Given the description of an element on the screen output the (x, y) to click on. 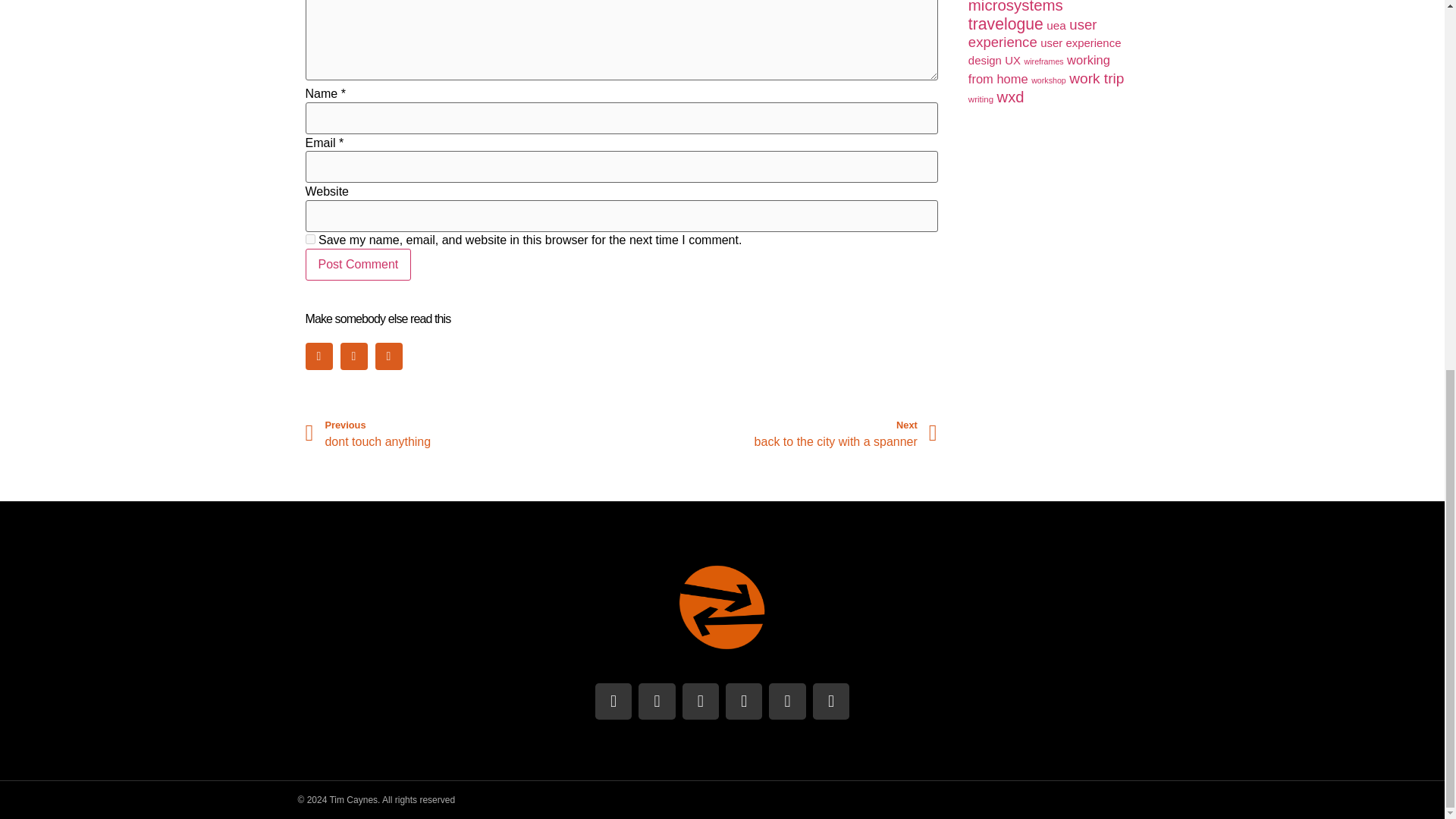
Post Comment (779, 433)
Post Comment (357, 264)
yes (357, 264)
